Given the description of an element on the screen output the (x, y) to click on. 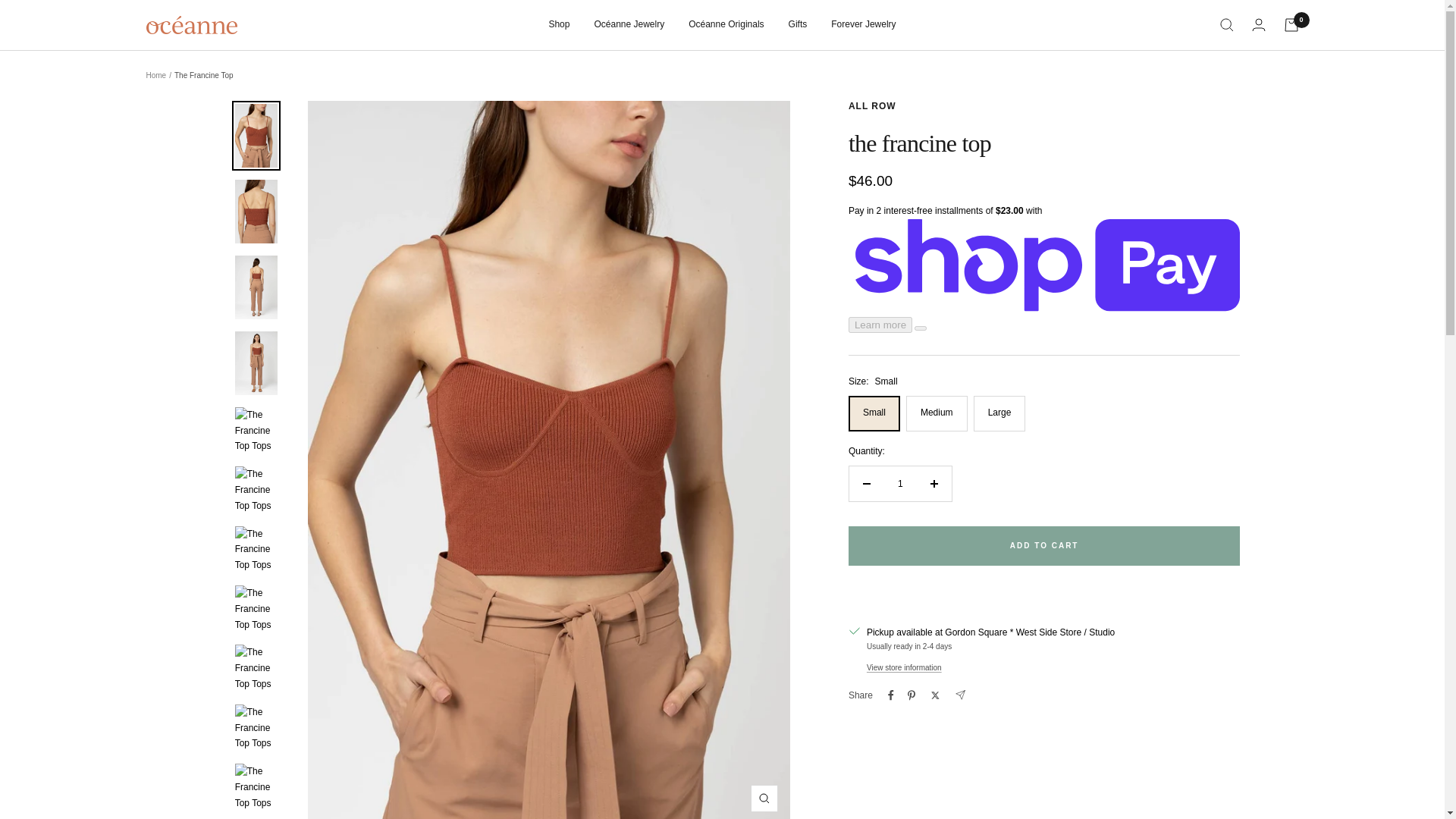
Shop (558, 24)
1 (900, 483)
Home (155, 75)
Gifts (798, 24)
Zoom (764, 798)
Forever Jewelry (863, 24)
0 (1291, 24)
